Given the description of an element on the screen output the (x, y) to click on. 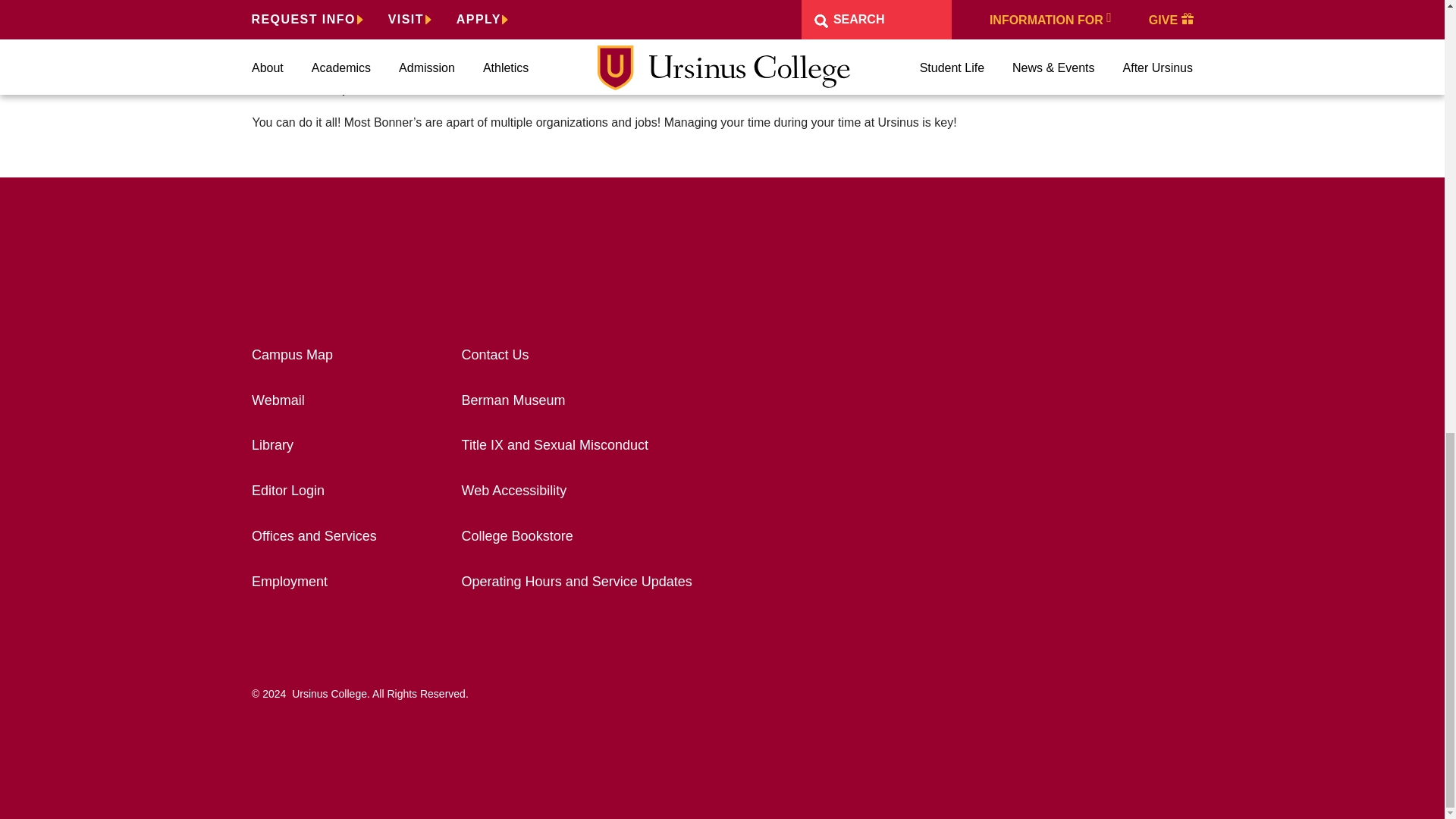
Campus Map (292, 354)
Webmail (277, 400)
Library (272, 444)
Editor Login (287, 490)
